Given the description of an element on the screen output the (x, y) to click on. 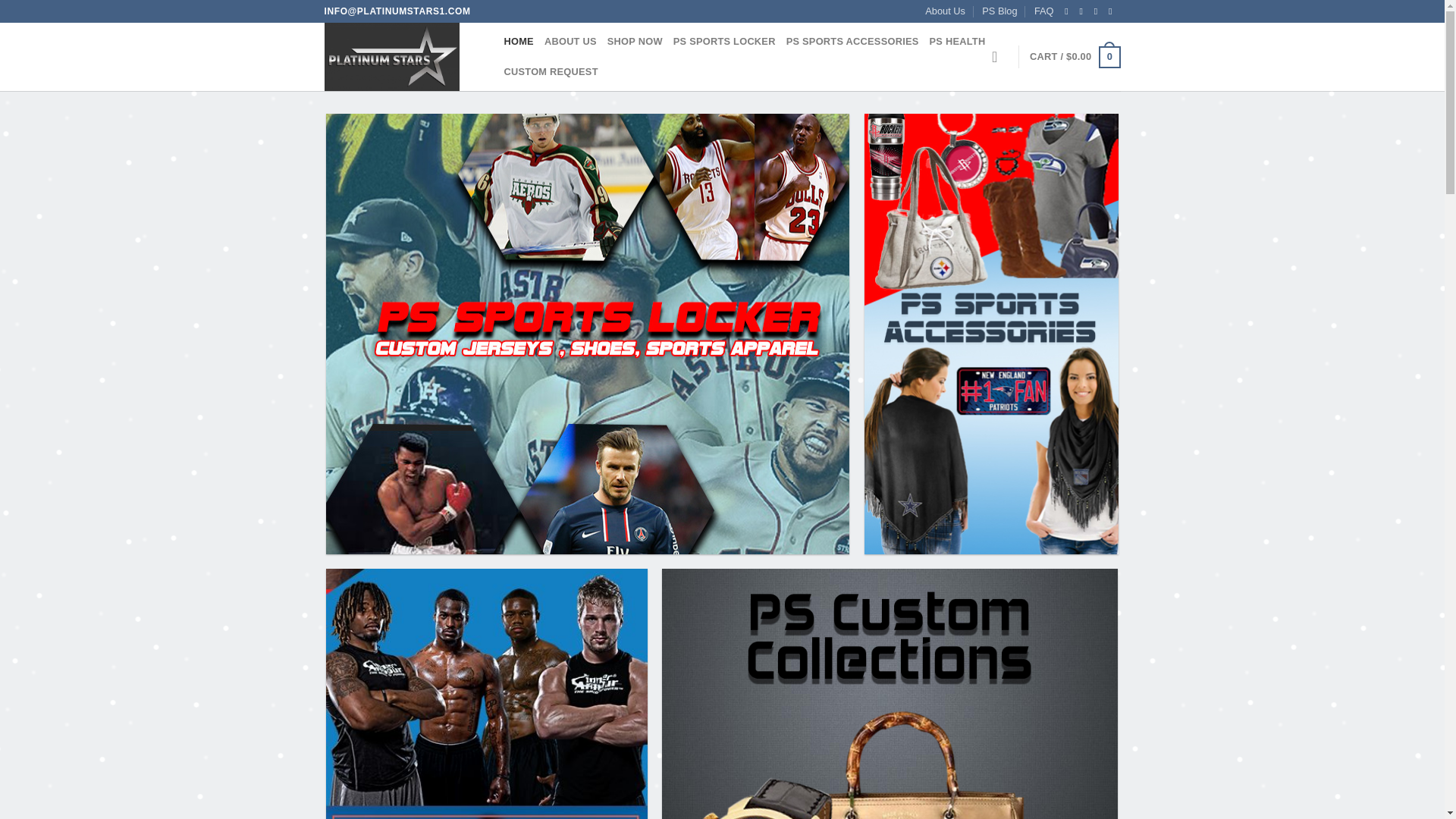
PS HEALTH (957, 41)
SHOP NOW (634, 41)
PS SPORTS LOCKER (724, 41)
CUSTOM REQUEST (549, 71)
About Us (944, 11)
Platinumstars (400, 56)
Cart (1074, 57)
ABOUT US (570, 41)
PS Blog (998, 11)
HOME (517, 41)
